Given the description of an element on the screen output the (x, y) to click on. 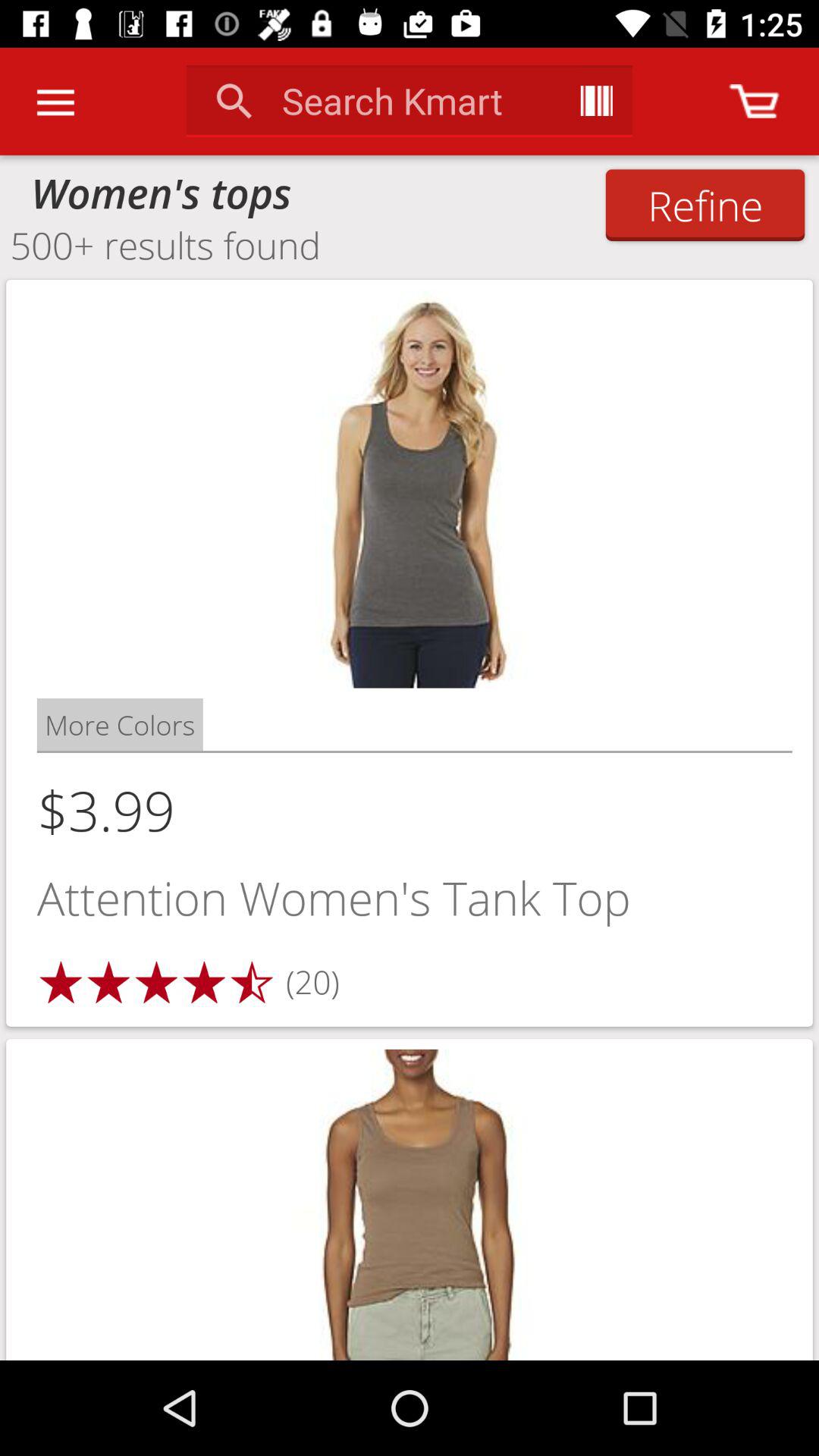
choose the refine (704, 205)
